Given the description of an element on the screen output the (x, y) to click on. 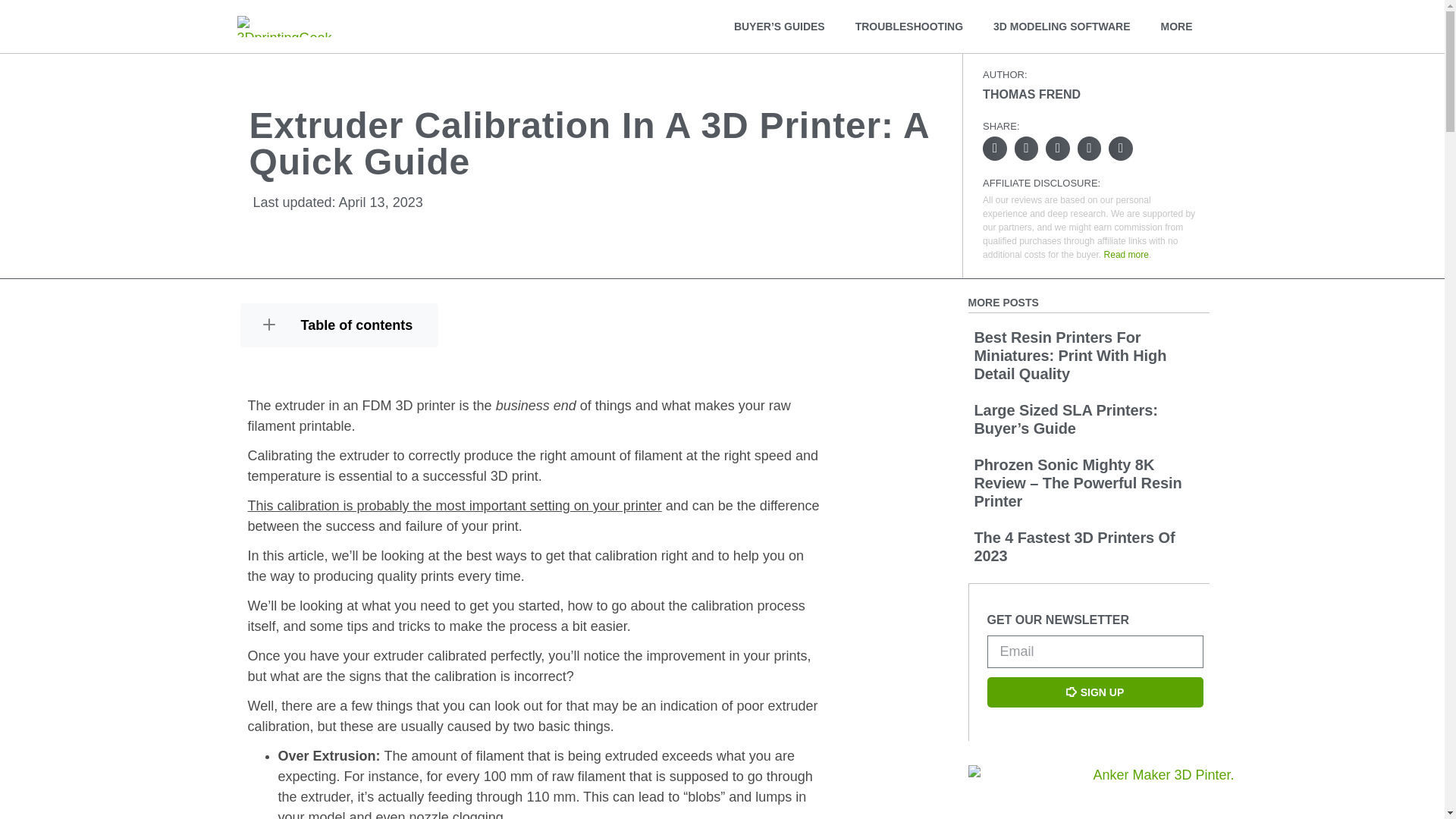
Read more (1125, 254)
THOMAS FREND (1031, 94)
3D MODELING SOFTWARE (1061, 26)
TROUBLESHOOTING (909, 26)
MORE (1175, 26)
